Given the description of an element on the screen output the (x, y) to click on. 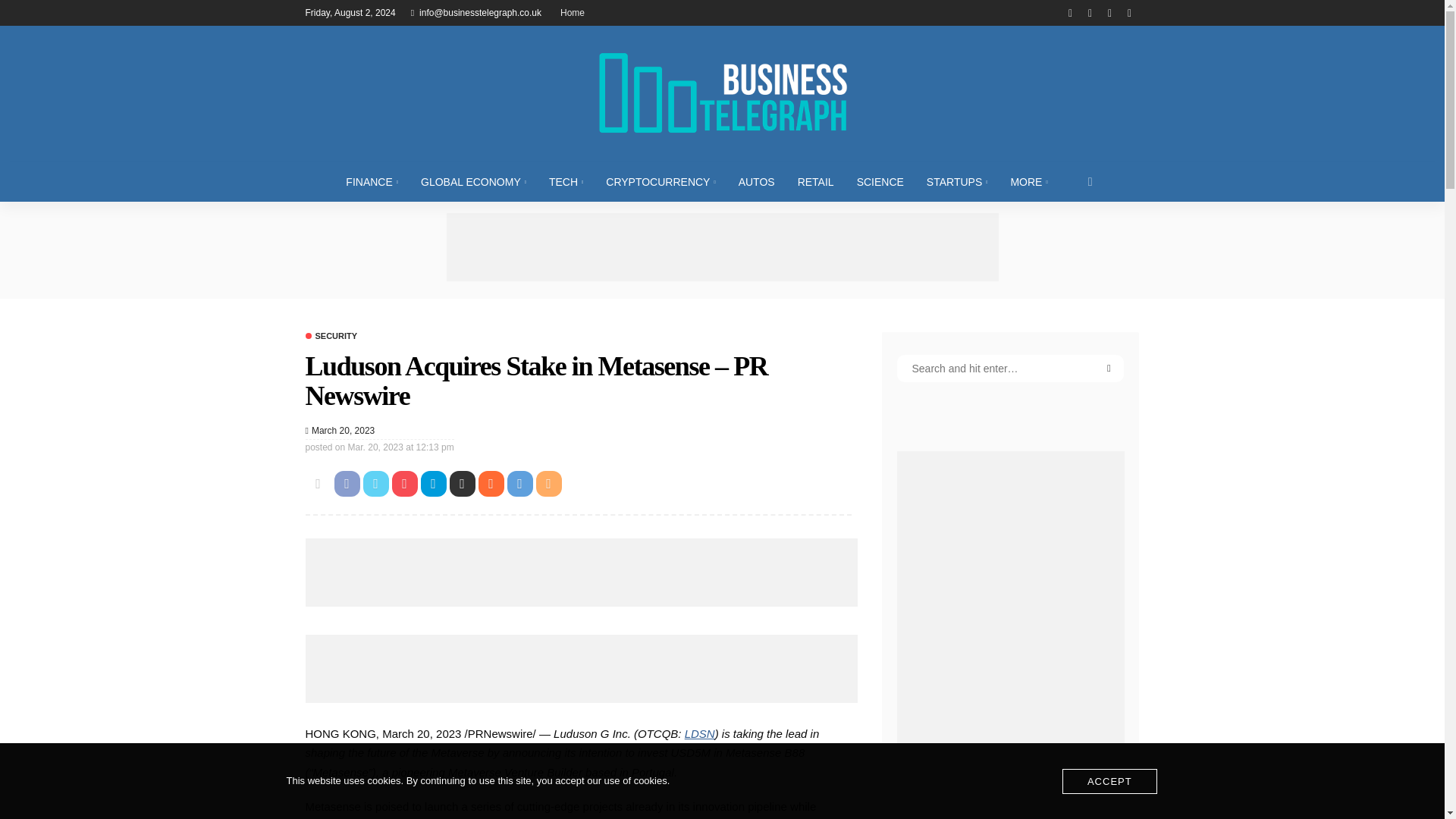
security (330, 336)
FINANCE (371, 181)
Business Telegraph (721, 93)
Home (572, 12)
search (1089, 181)
